Given the description of an element on the screen output the (x, y) to click on. 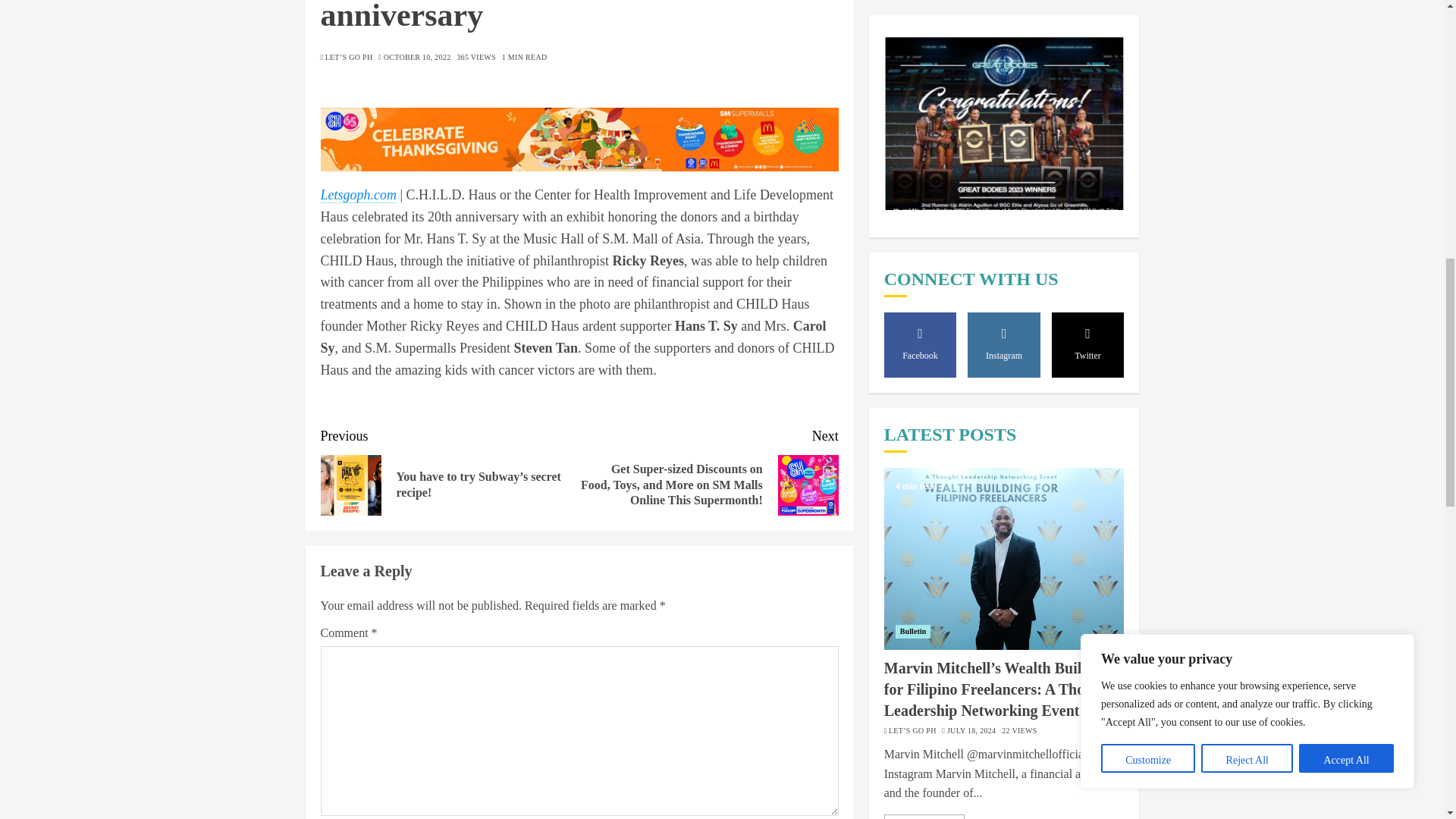
OCTOBER 10, 2022 (417, 57)
